Given the description of an element on the screen output the (x, y) to click on. 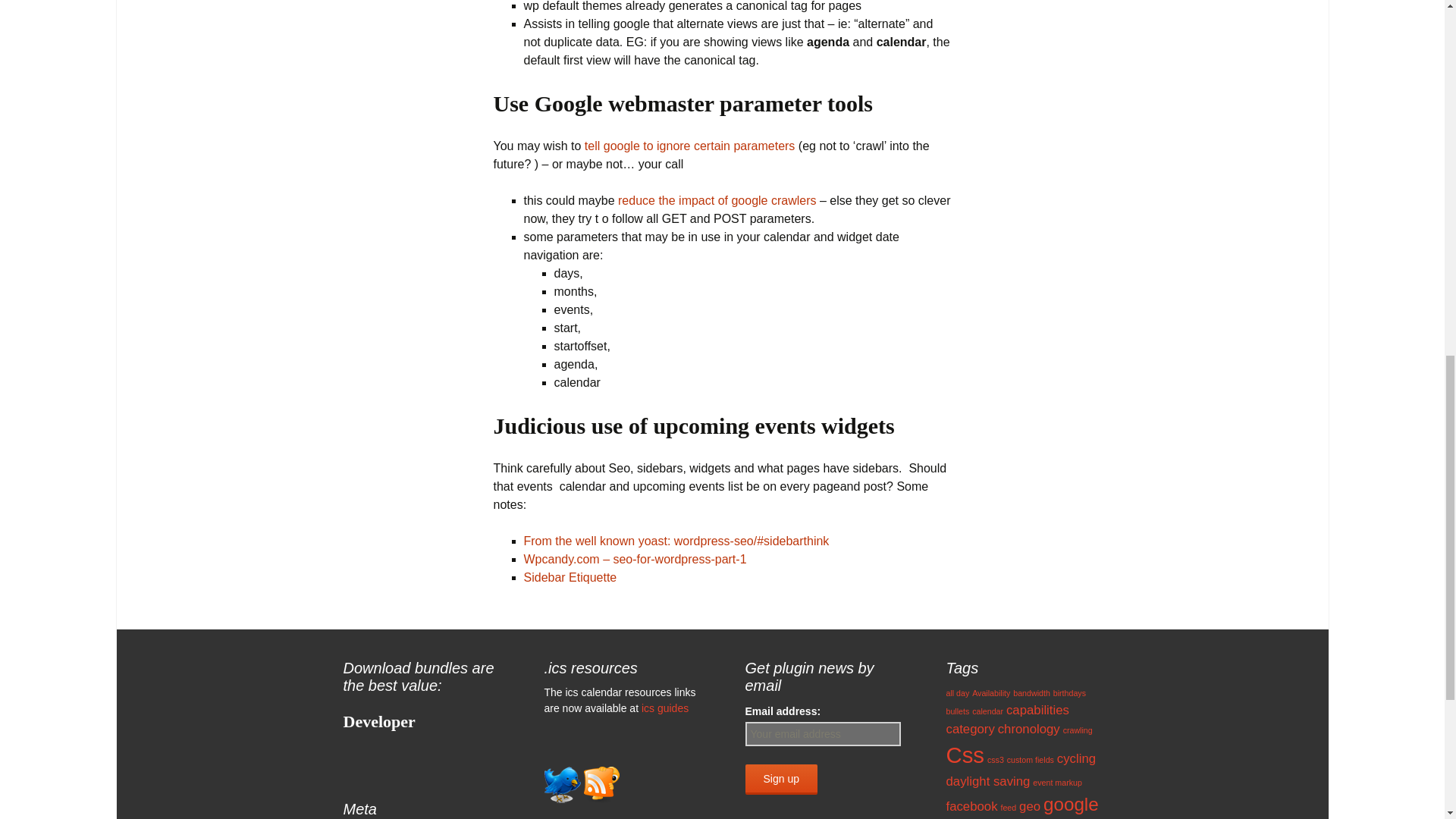
wordpress events plugin seo (716, 200)
Subscribe to Updates by RSS (601, 783)
Follow updates on twitter (562, 783)
Side bar thinkingfrom Yoast (675, 540)
See the section  on sidebar widgets (633, 558)
Sign up (780, 779)
